Given the description of an element on the screen output the (x, y) to click on. 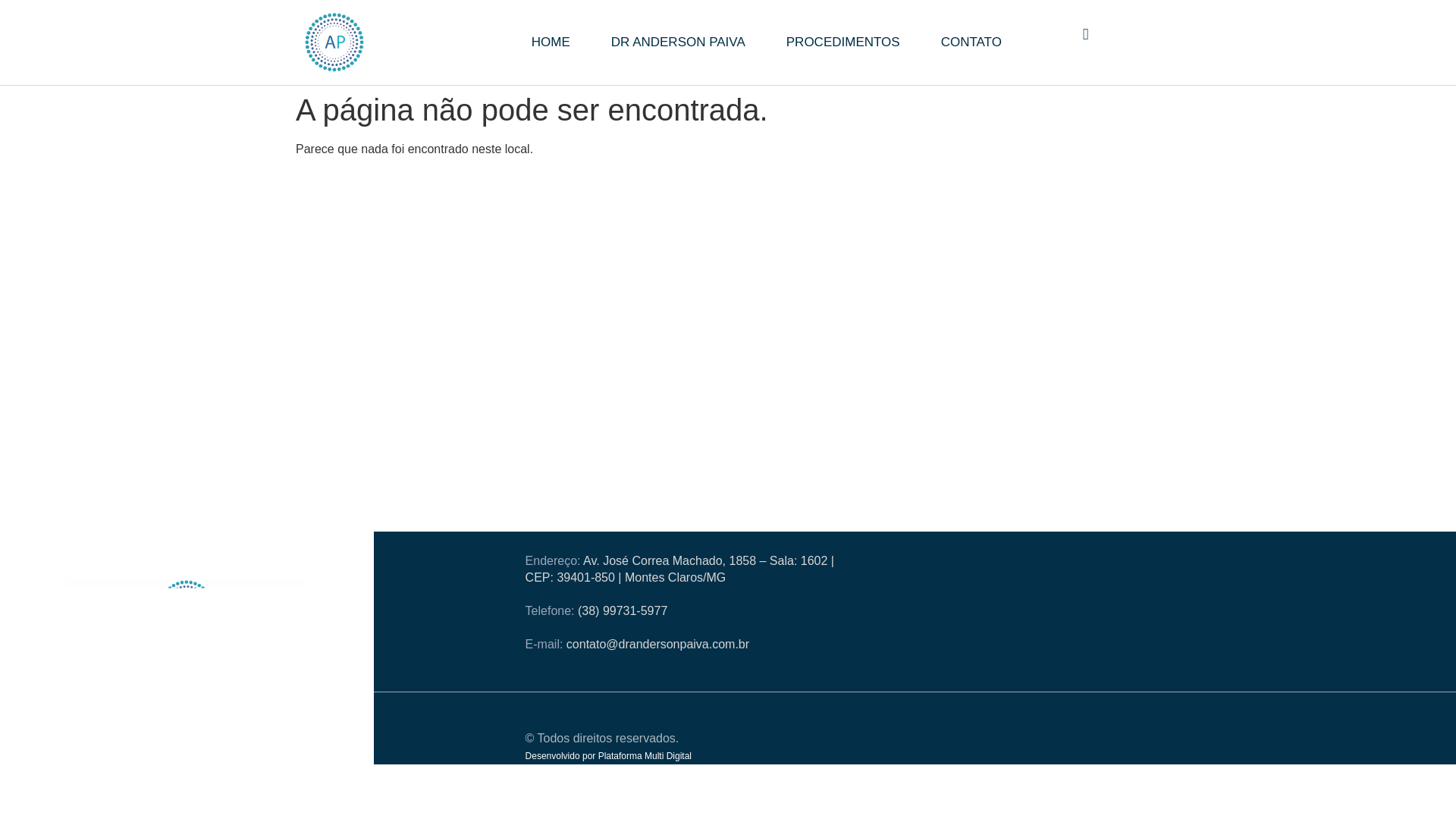
PROCEDIMENTOS (842, 42)
HOME (551, 42)
Desenvolvido por Plataforma Multi Digital (608, 756)
CONTATO (971, 42)
DR ANDERSON PAIVA (678, 42)
